Given the description of an element on the screen output the (x, y) to click on. 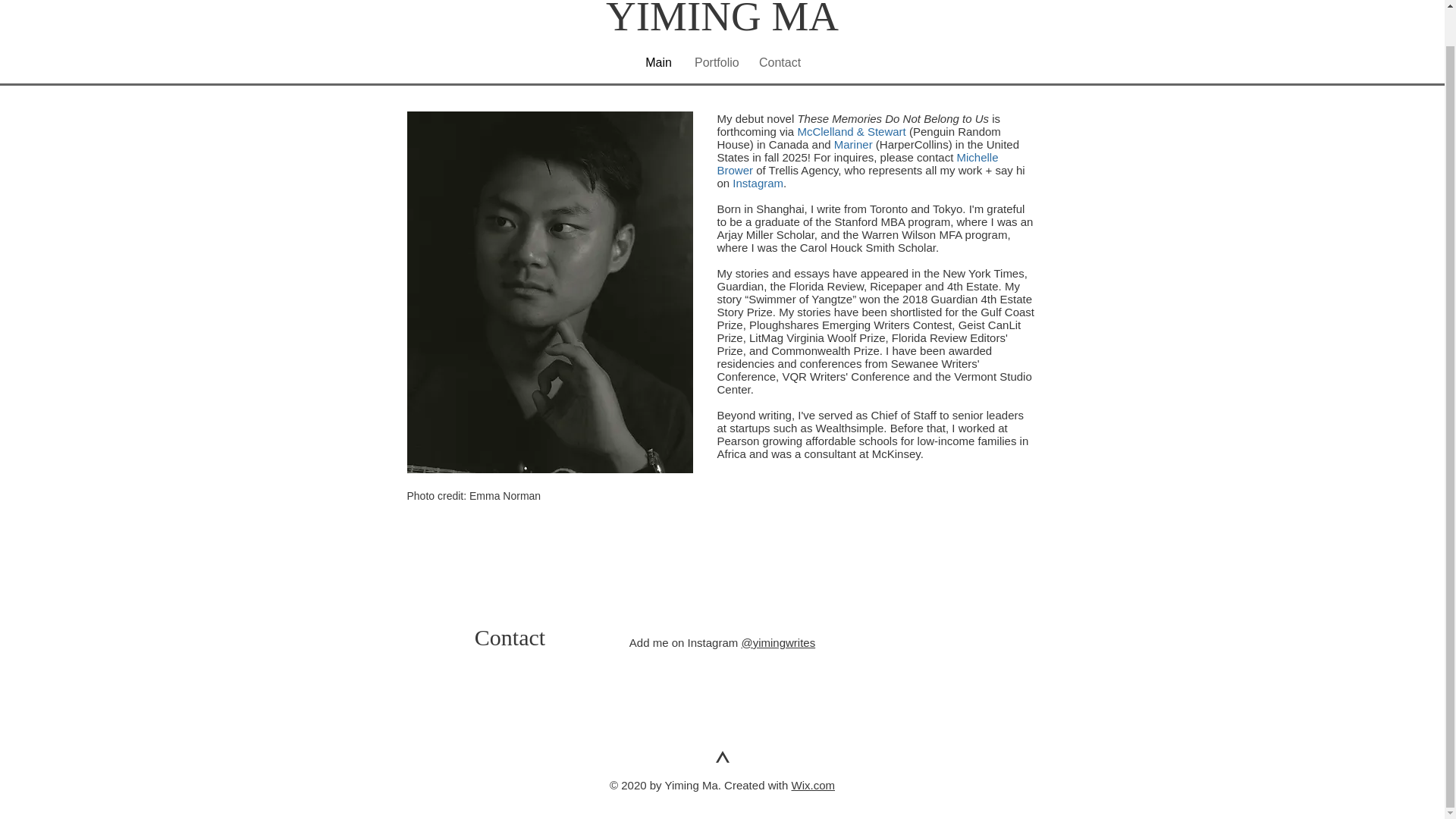
Contact (779, 62)
Michelle Brower (857, 163)
Wix.com (813, 784)
Instagram (757, 182)
Main (657, 62)
Portfolio (715, 62)
Mariner (853, 143)
